Given the description of an element on the screen output the (x, y) to click on. 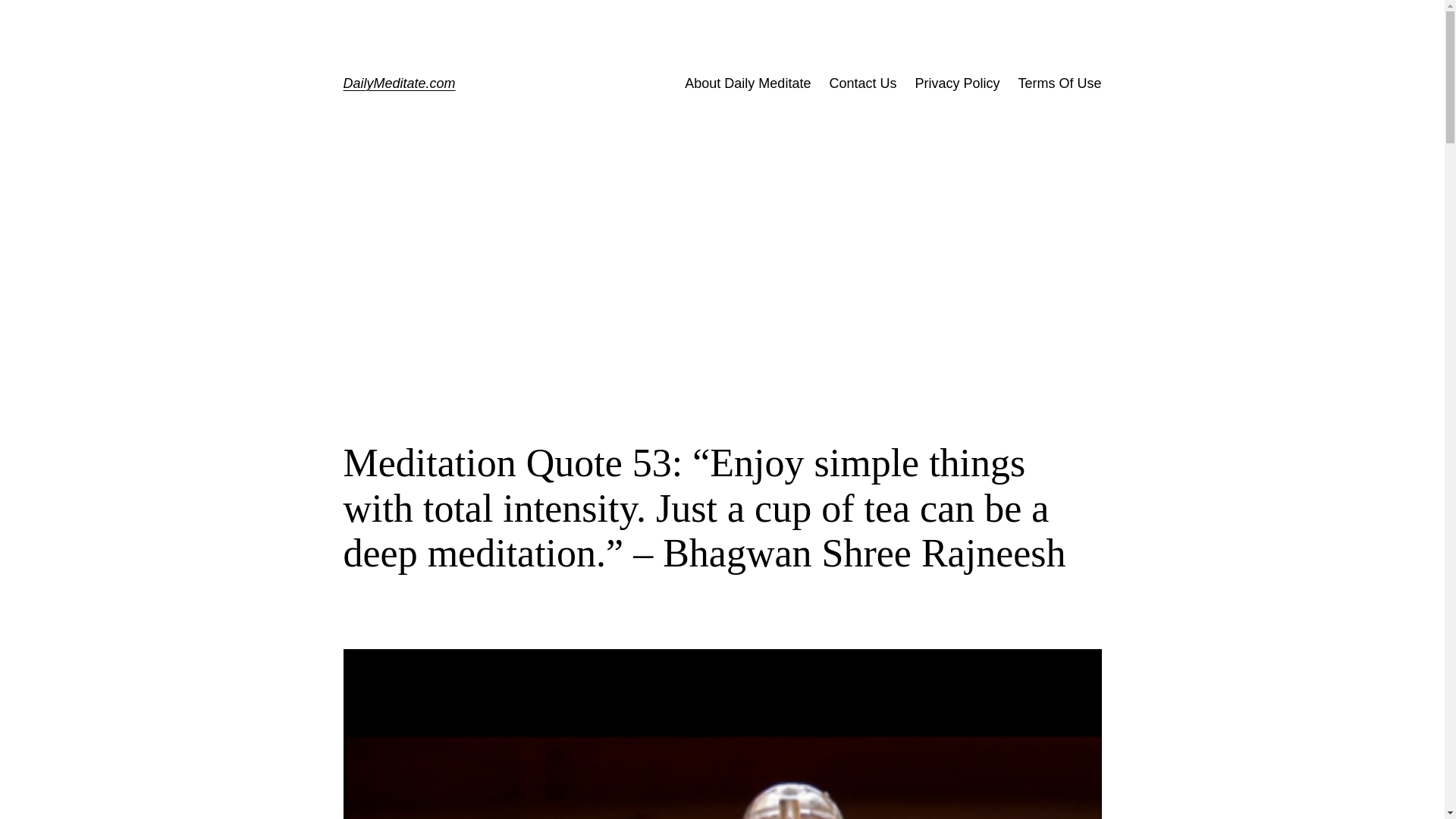
About Daily Meditate (747, 83)
Privacy Policy (956, 83)
Contact Us (862, 83)
Terms Of Use (1058, 83)
DailyMeditate.com (398, 83)
